Given the description of an element on the screen output the (x, y) to click on. 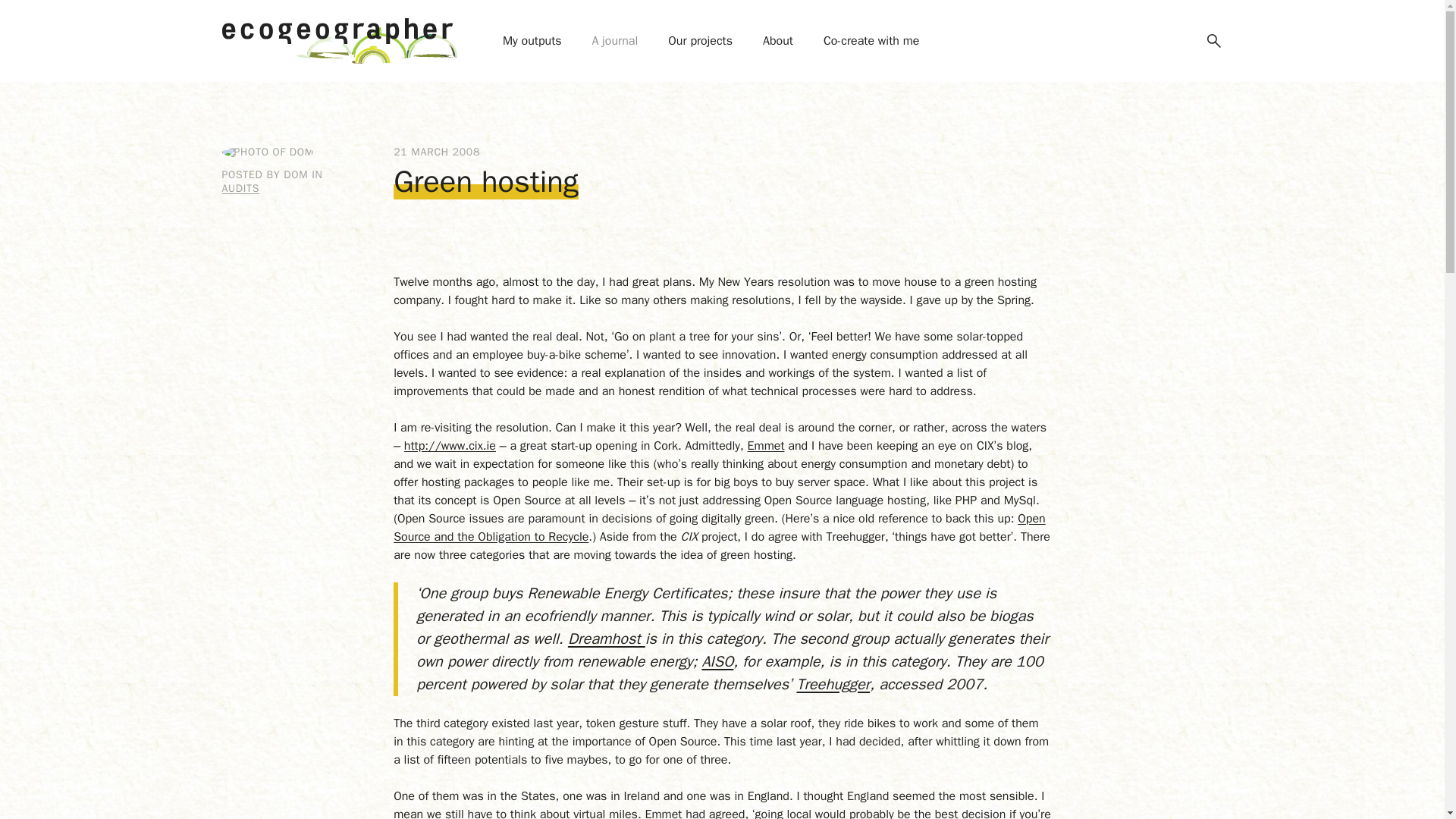
Cork Internet Exchange (450, 445)
Treehugger (832, 683)
Our projects (700, 40)
Hosting Company - Energy Certificates (606, 638)
Dreamhost (606, 638)
Emmet Connolly (766, 445)
AISO (717, 660)
A journal (614, 40)
About (778, 40)
My outputs (531, 40)
Open Source and the Obligation to Recycle (719, 527)
Web Hosting - Generates Own Power (717, 660)
Tim Oreilly links Green and Open Source (719, 527)
Treehugger (832, 683)
Emmet (766, 445)
